Given the description of an element on the screen output the (x, y) to click on. 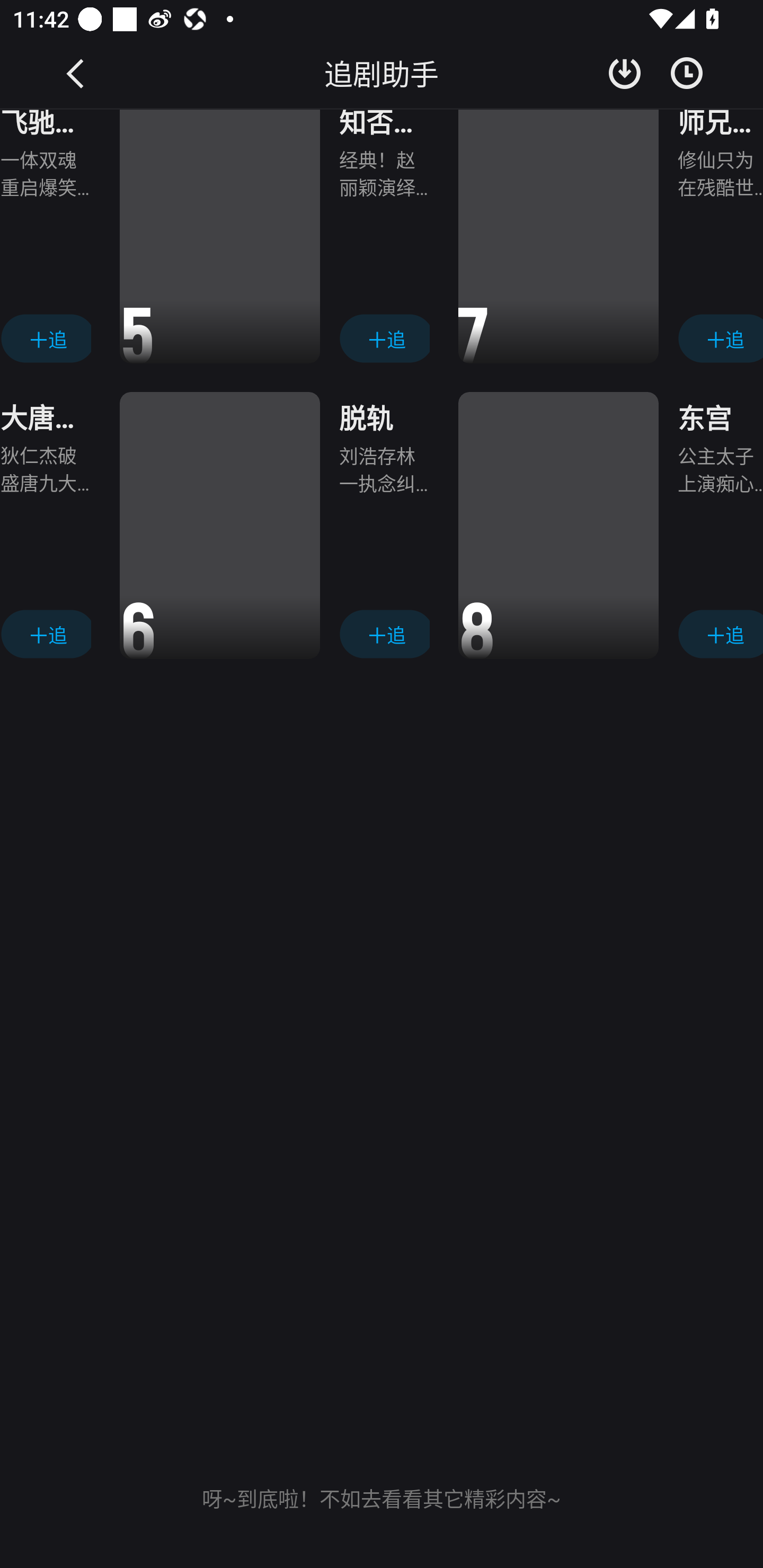
追剧助手 (381, 72)
 返回 (76, 72)
下载 (624, 72)
历史 (686, 72)
追 (45, 338)
追 (383, 338)
追 (720, 338)
追 (45, 633)
追 (383, 633)
追 (720, 633)
